Given the description of an element on the screen output the (x, y) to click on. 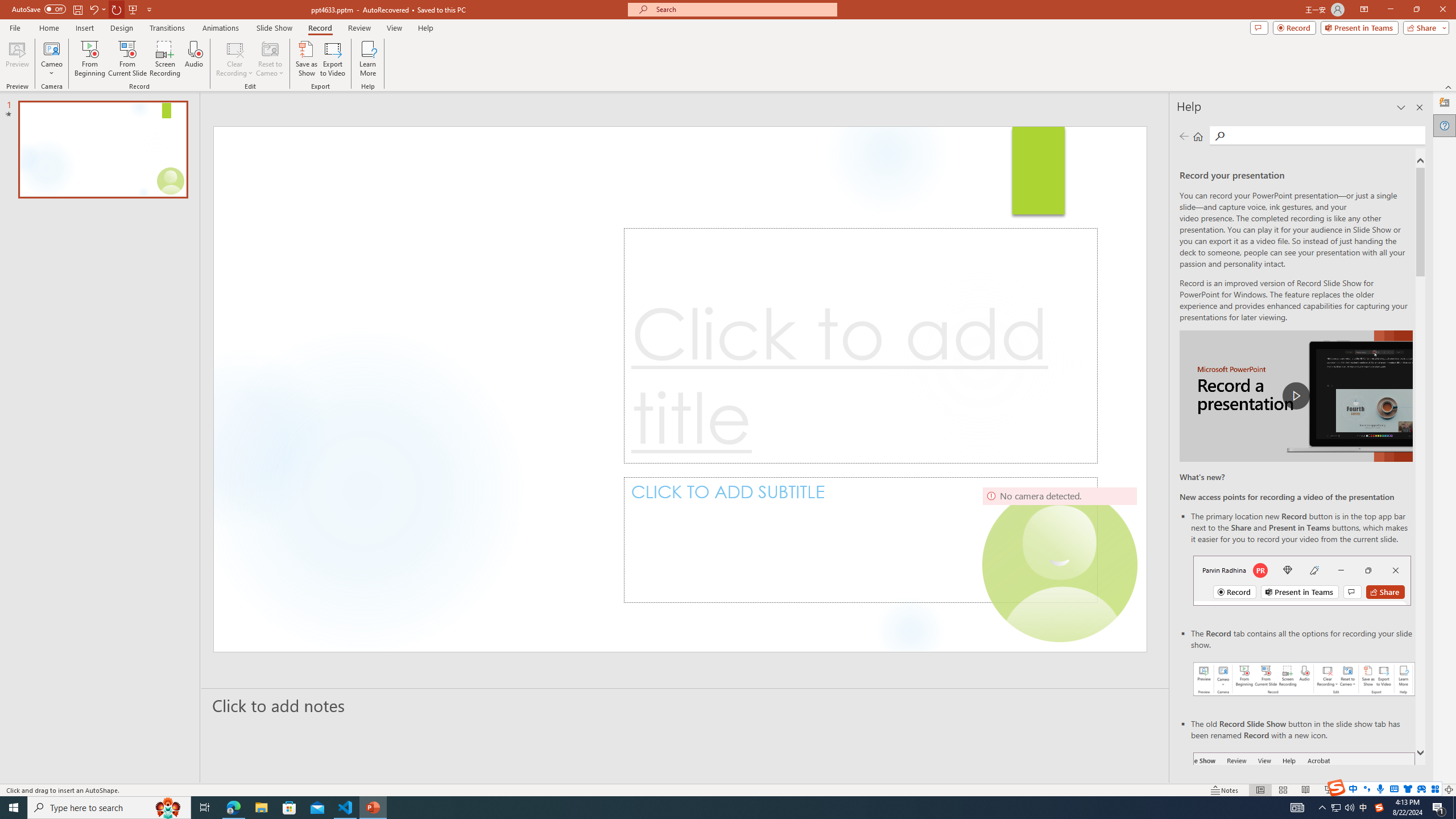
Record your presentations screenshot one (1304, 678)
play Record a Presentation (1296, 395)
Learn More (368, 58)
Reset to Cameo (269, 58)
Minimize (1390, 9)
Task Pane Options (1400, 107)
Search (1219, 136)
Review (359, 28)
Record button in top bar (1301, 580)
Comments (1259, 27)
Undo (92, 9)
Zoom (1379, 790)
Zoom Out (1365, 790)
AutoSave (38, 9)
Cameo (51, 58)
